Given the description of an element on the screen output the (x, y) to click on. 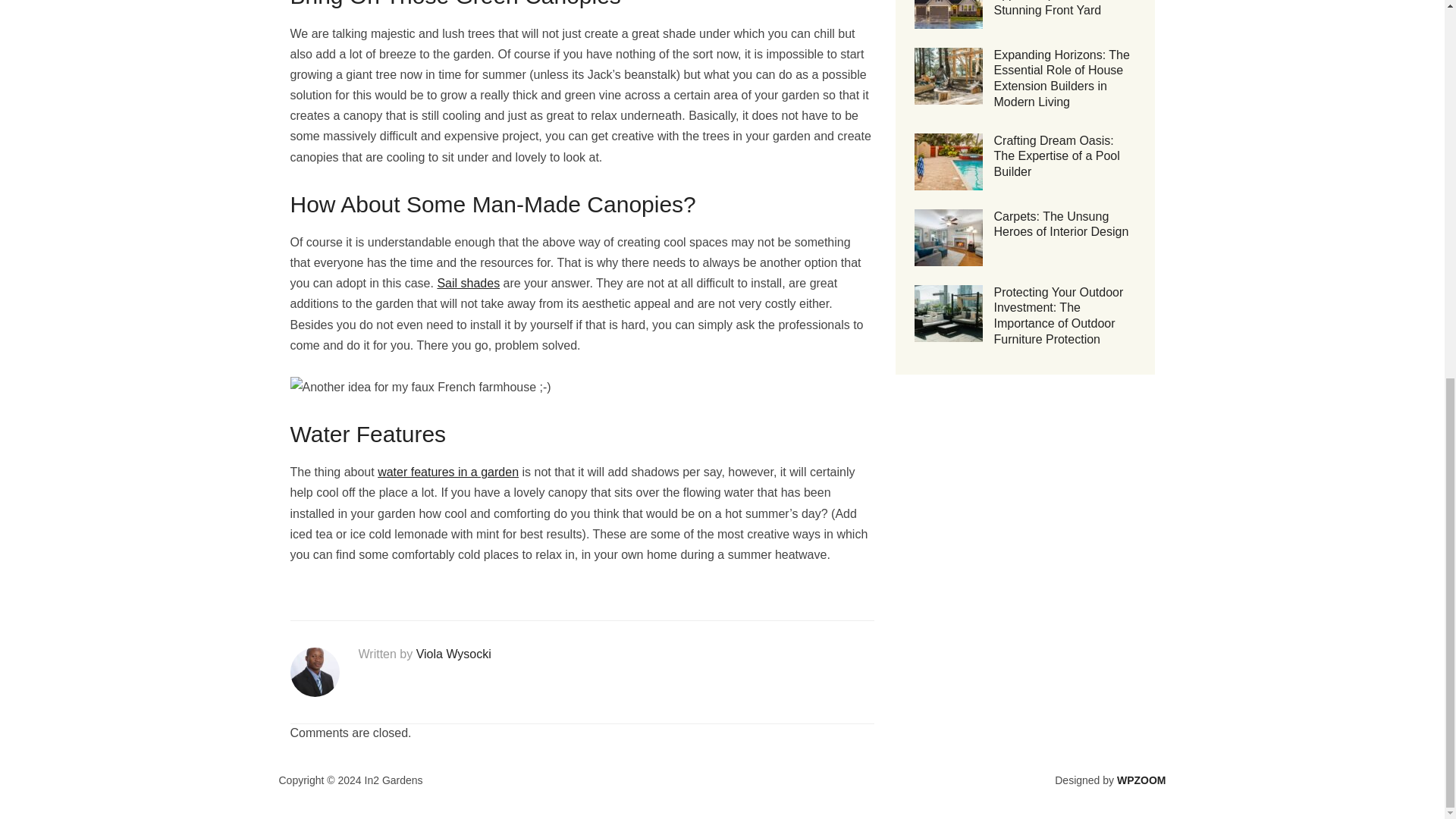
Sail shades (467, 282)
water features in a garden (447, 472)
Viola Wysocki (454, 653)
Crafting Dream Oasis: The Expertise of a Pool Builder (1055, 156)
Posts by Viola Wysocki (454, 653)
Enhancing Your Curb Appeal: Tips for a Stunning Front Yard (1050, 8)
